Given the description of an element on the screen output the (x, y) to click on. 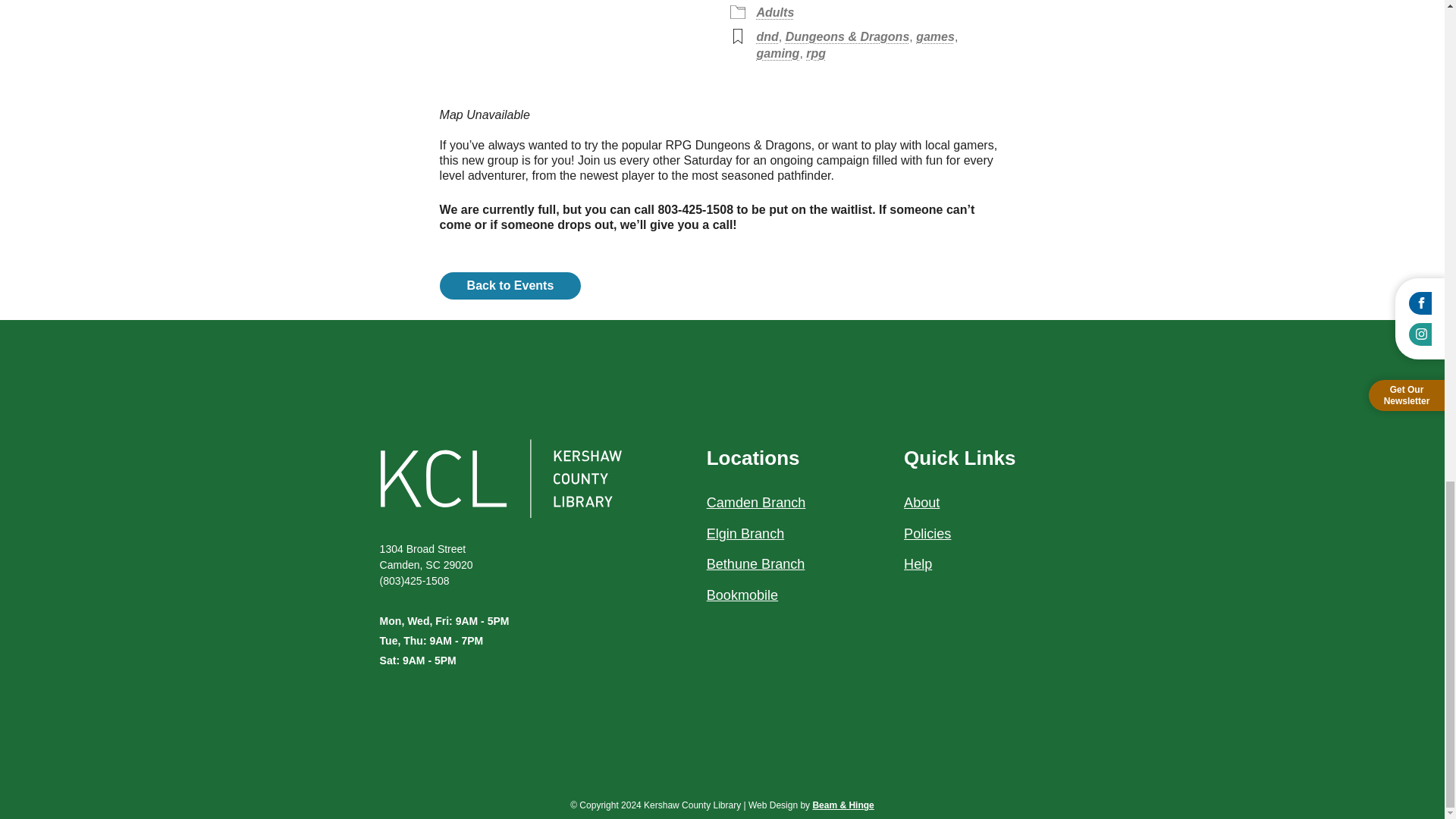
Adults (775, 11)
Elgin Branch (745, 533)
gaming (778, 52)
Back to Events (509, 285)
Google Calendar (664, 6)
Camden Branch (756, 502)
Download ICS (513, 6)
games (935, 36)
rpg (815, 52)
dnd (767, 36)
